Given the description of an element on the screen output the (x, y) to click on. 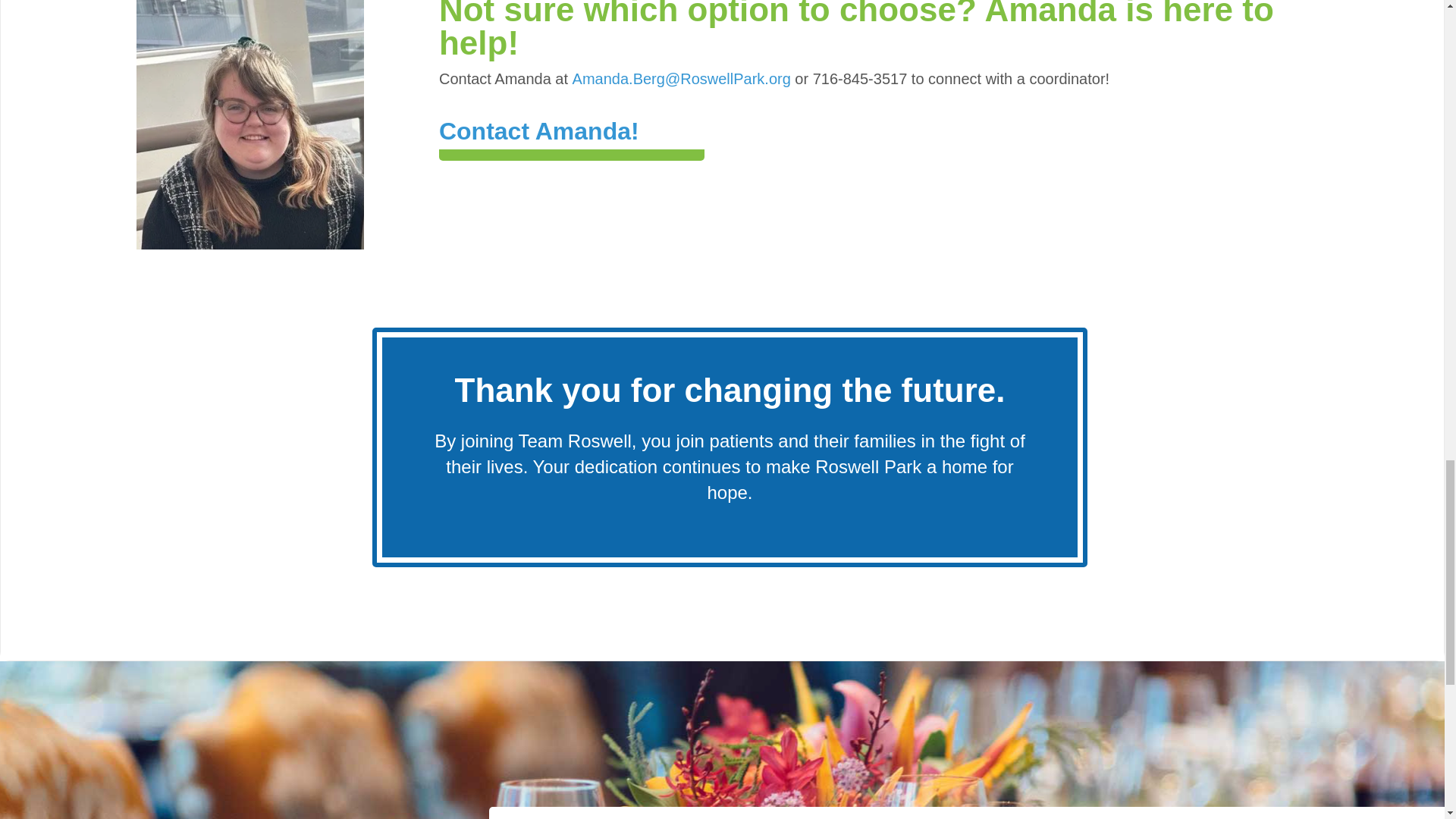
Contact Amanda! (539, 130)
